Given the description of an element on the screen output the (x, y) to click on. 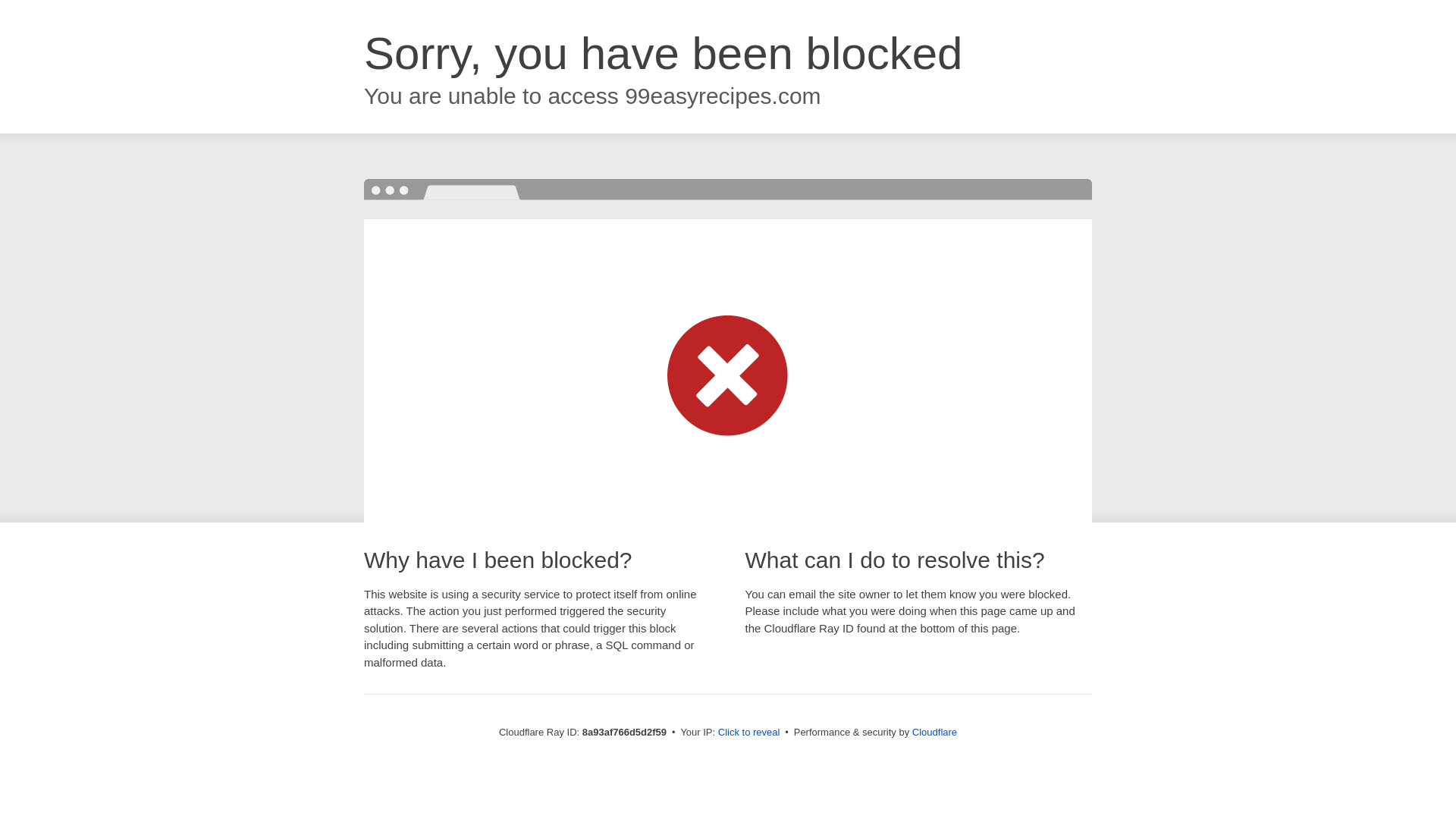
Cloudflare (934, 731)
Click to reveal (748, 732)
